Given the description of an element on the screen output the (x, y) to click on. 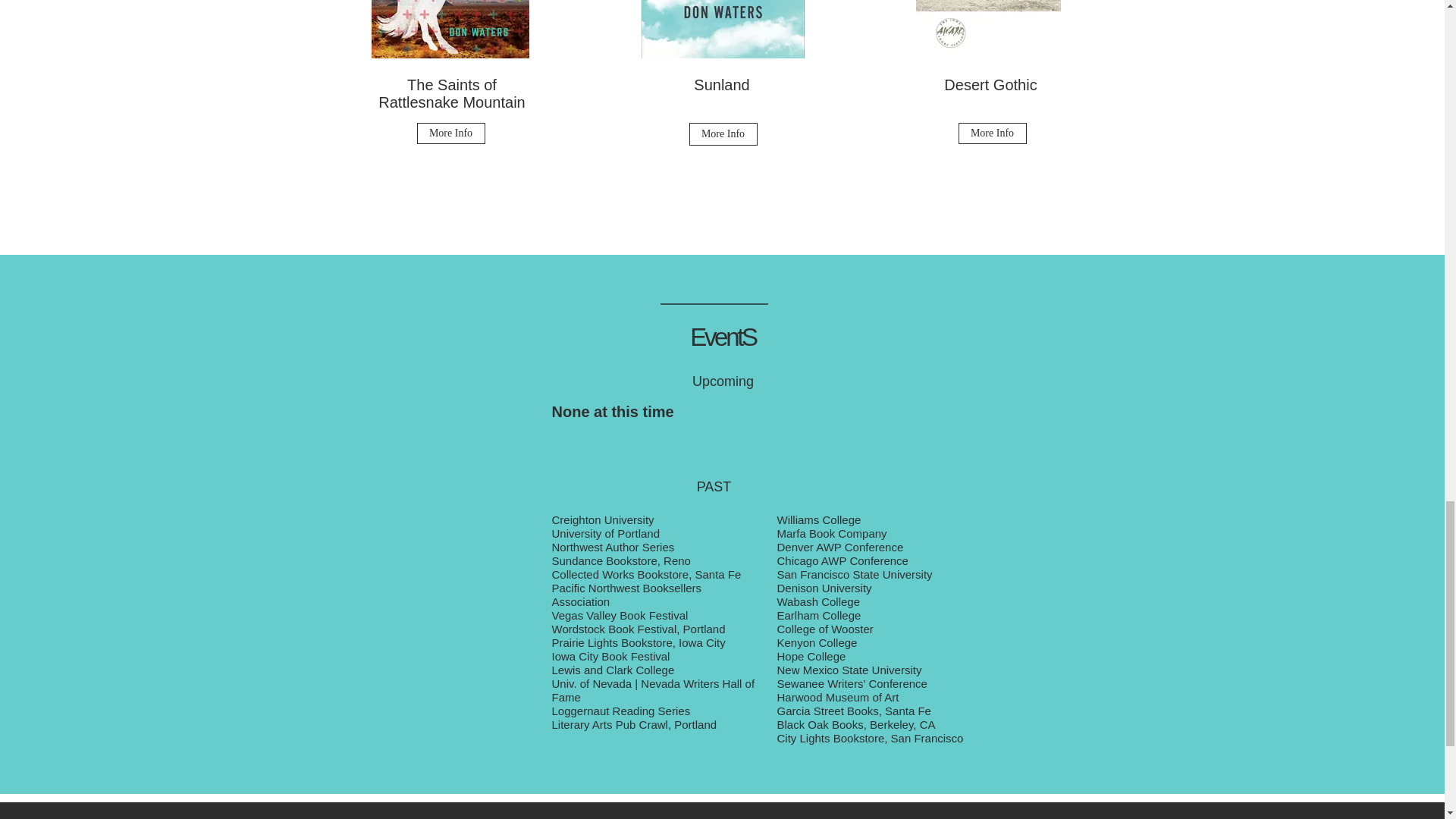
More Info (722, 133)
More Info (450, 133)
More Info (992, 133)
